Given the description of an element on the screen output the (x, y) to click on. 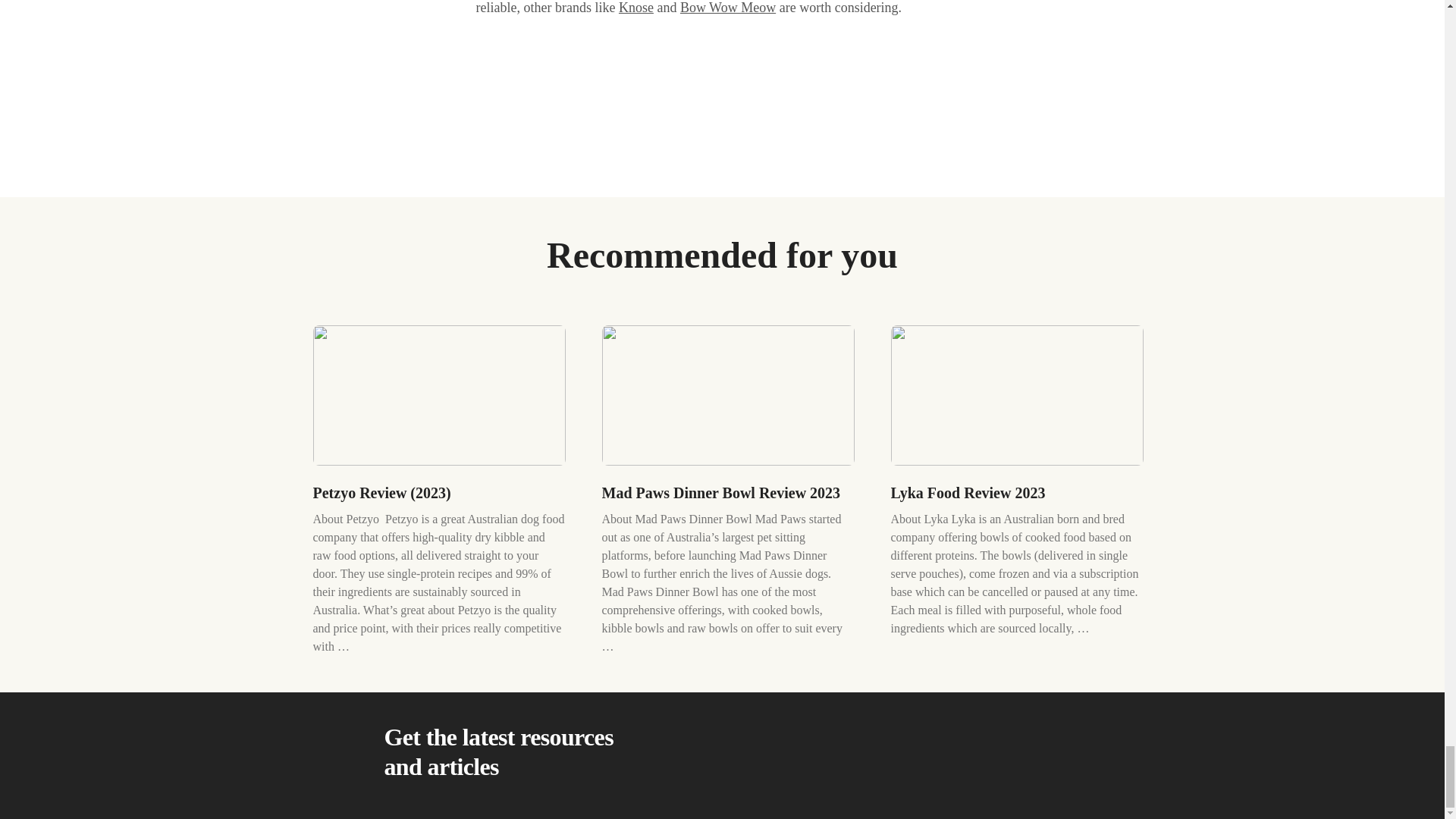
Bow Wow Meow (727, 7)
Knose (635, 7)
Mad Paws Dinner Bowl Review 2023 (721, 492)
Lyka Food Review 2023 (967, 492)
